Given the description of an element on the screen output the (x, y) to click on. 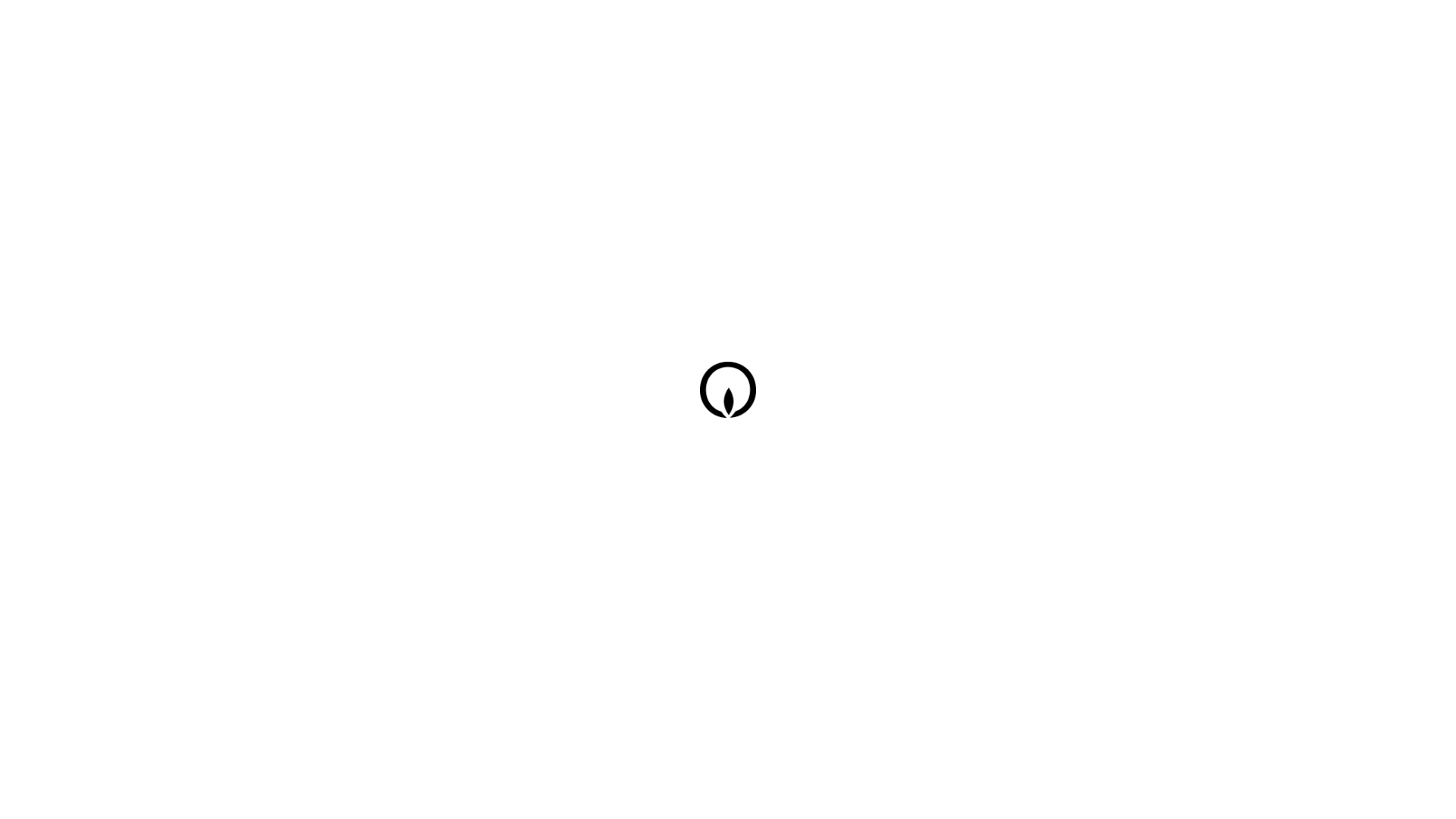
eroma logo Element type: hover (730, 401)
eroma logo Element type: hover (730, 391)
